Given the description of an element on the screen output the (x, y) to click on. 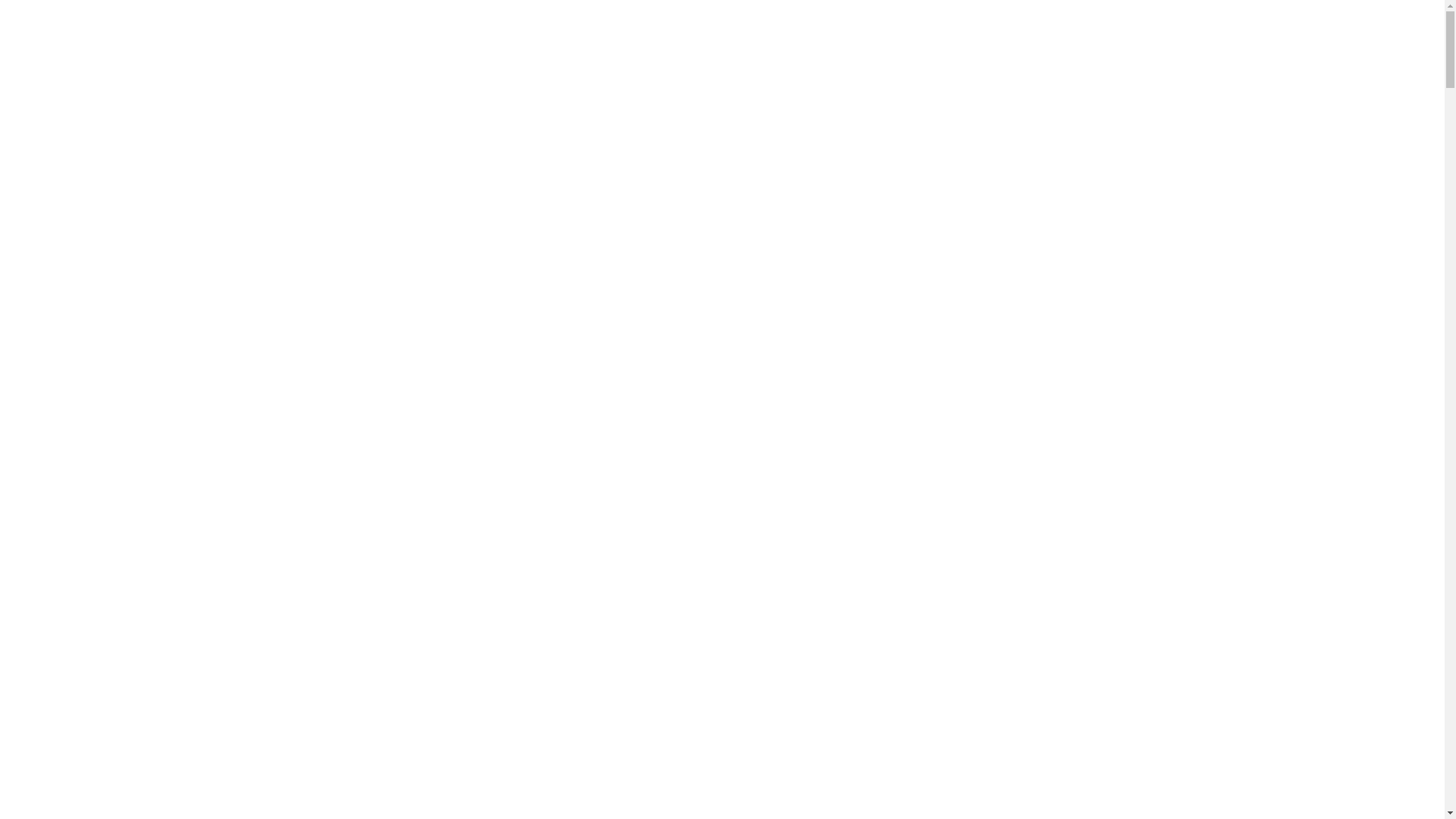
Passer au contenu Element type: text (5, 5)
